Given the description of an element on the screen output the (x, y) to click on. 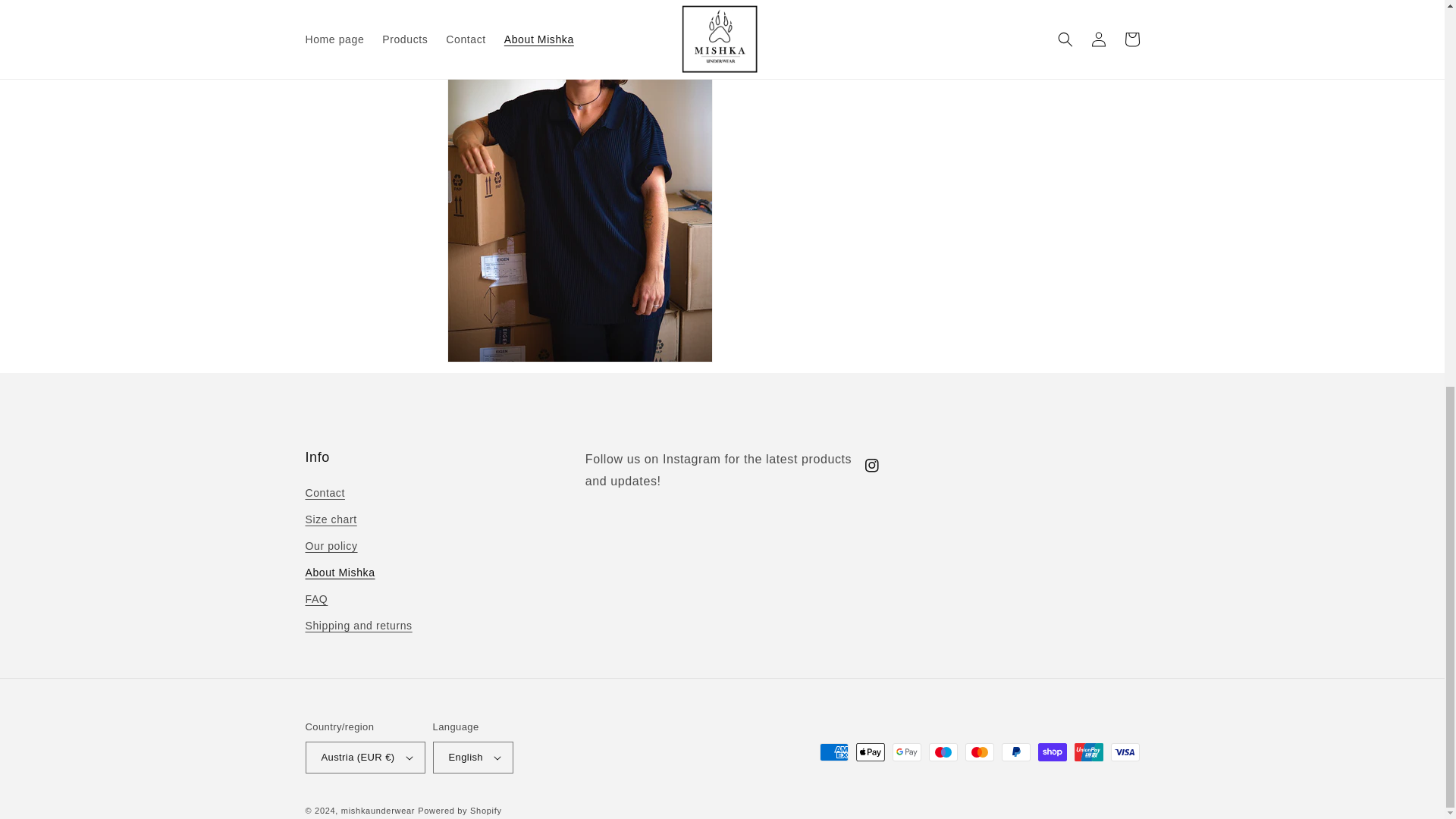
English (472, 757)
Shipping and returns (358, 625)
Our policy (330, 546)
Contact (323, 495)
Size chart (330, 519)
mishkaunderwear (377, 809)
Instagram (872, 465)
About Mishka (339, 572)
